Given the description of an element on the screen output the (x, y) to click on. 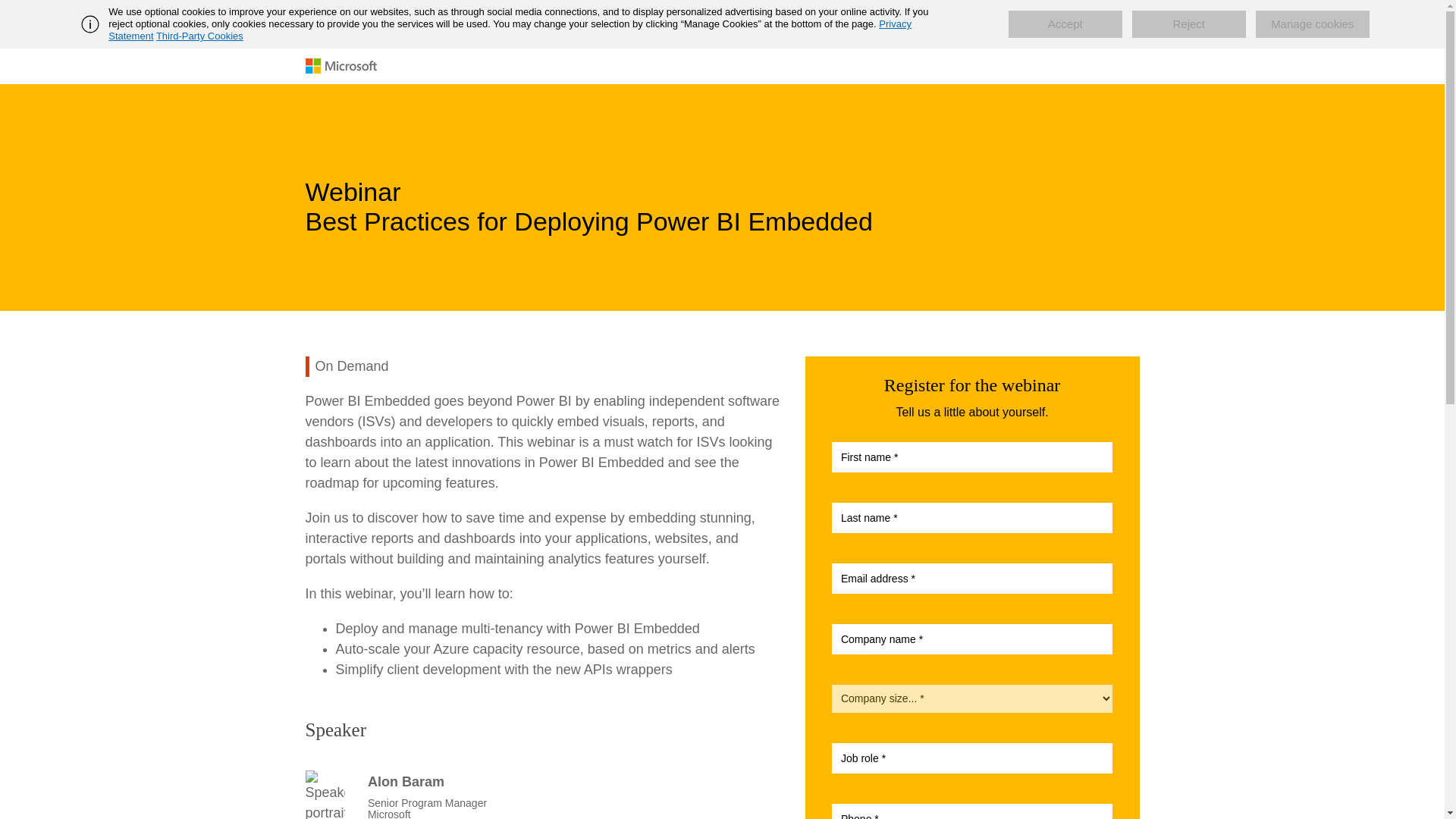
Accept (1065, 23)
Third-Party Cookies (199, 35)
Manage cookies (1312, 23)
Privacy Statement (509, 29)
Reject (1189, 23)
